Given the description of an element on the screen output the (x, y) to click on. 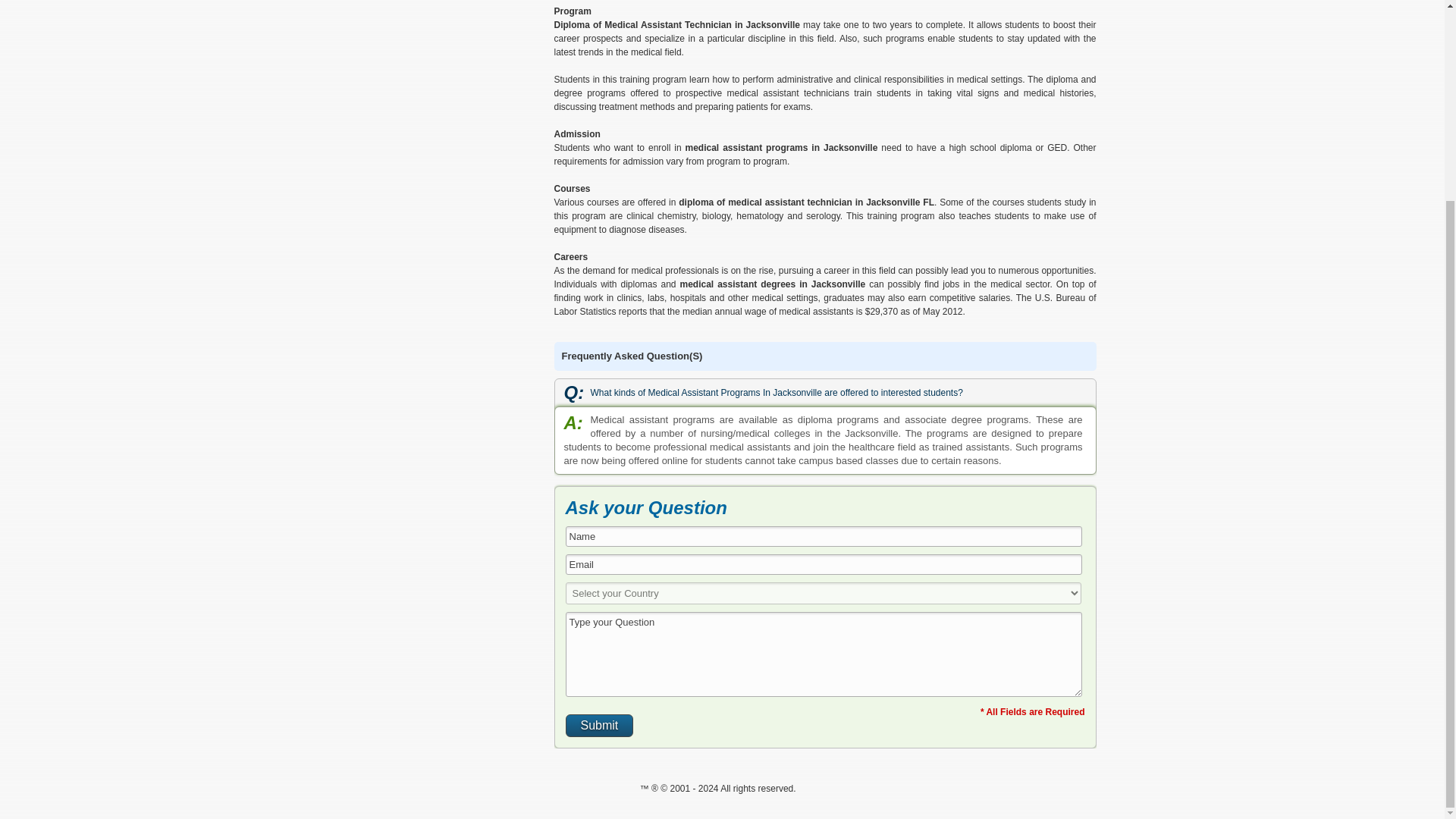
Email (823, 564)
Submit (599, 725)
Name (823, 536)
